Given the description of an element on the screen output the (x, y) to click on. 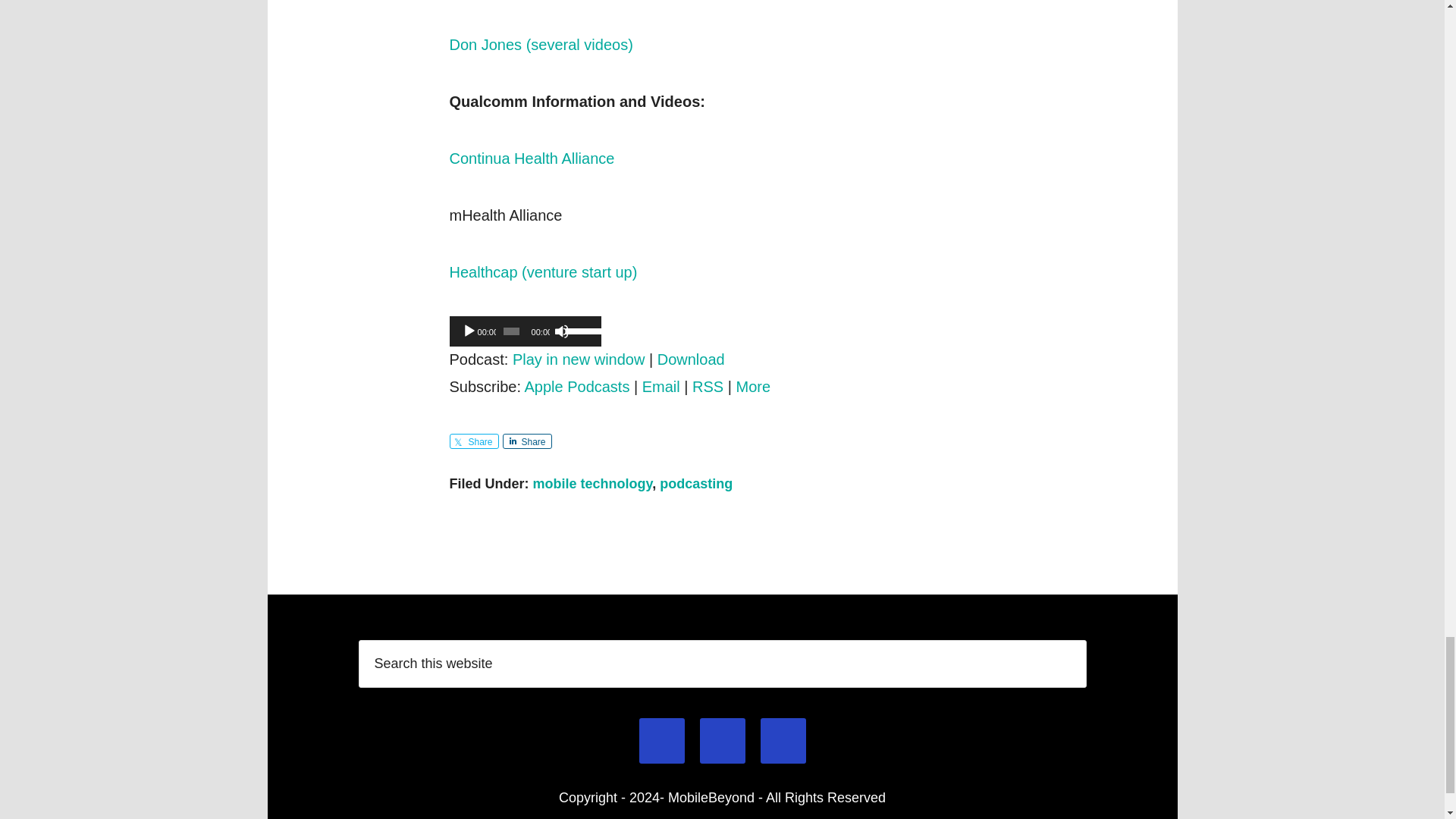
Continua Health Alliance (531, 158)
Play (468, 330)
mobile technology (592, 483)
Email (660, 385)
Email (661, 740)
Download (691, 358)
Share (472, 441)
RSS (708, 385)
Share (526, 441)
More (753, 385)
Play in new window (578, 358)
Twitter (782, 740)
Mute (561, 330)
